Given the description of an element on the screen output the (x, y) to click on. 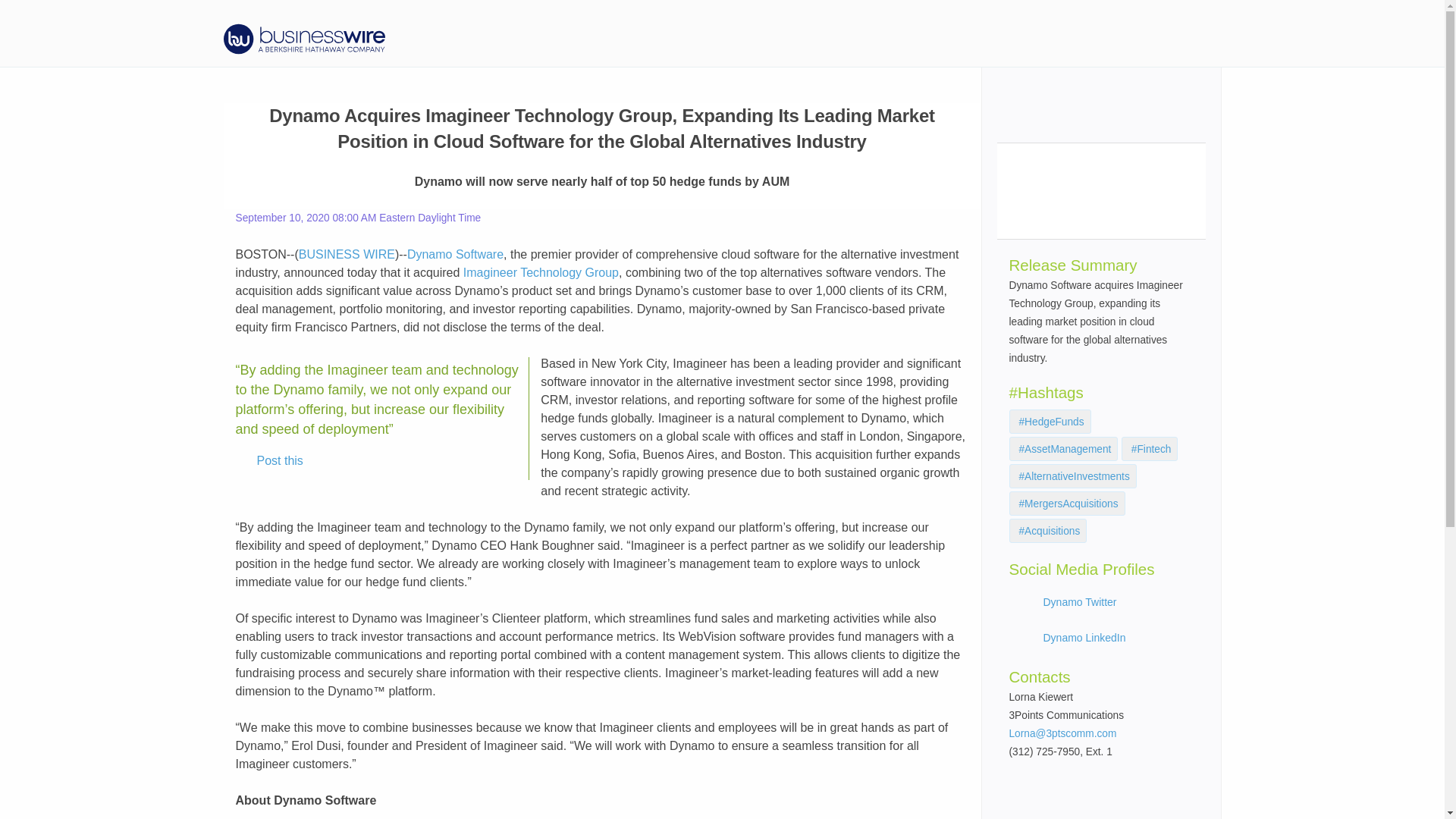
Post this (269, 460)
Imagineer Technology Group (540, 272)
Dynamo Twitter (1079, 602)
Dynamo LinkedIn (1084, 637)
Dynamo Software (455, 254)
BUSINESS WIRE (346, 254)
